Given the description of an element on the screen output the (x, y) to click on. 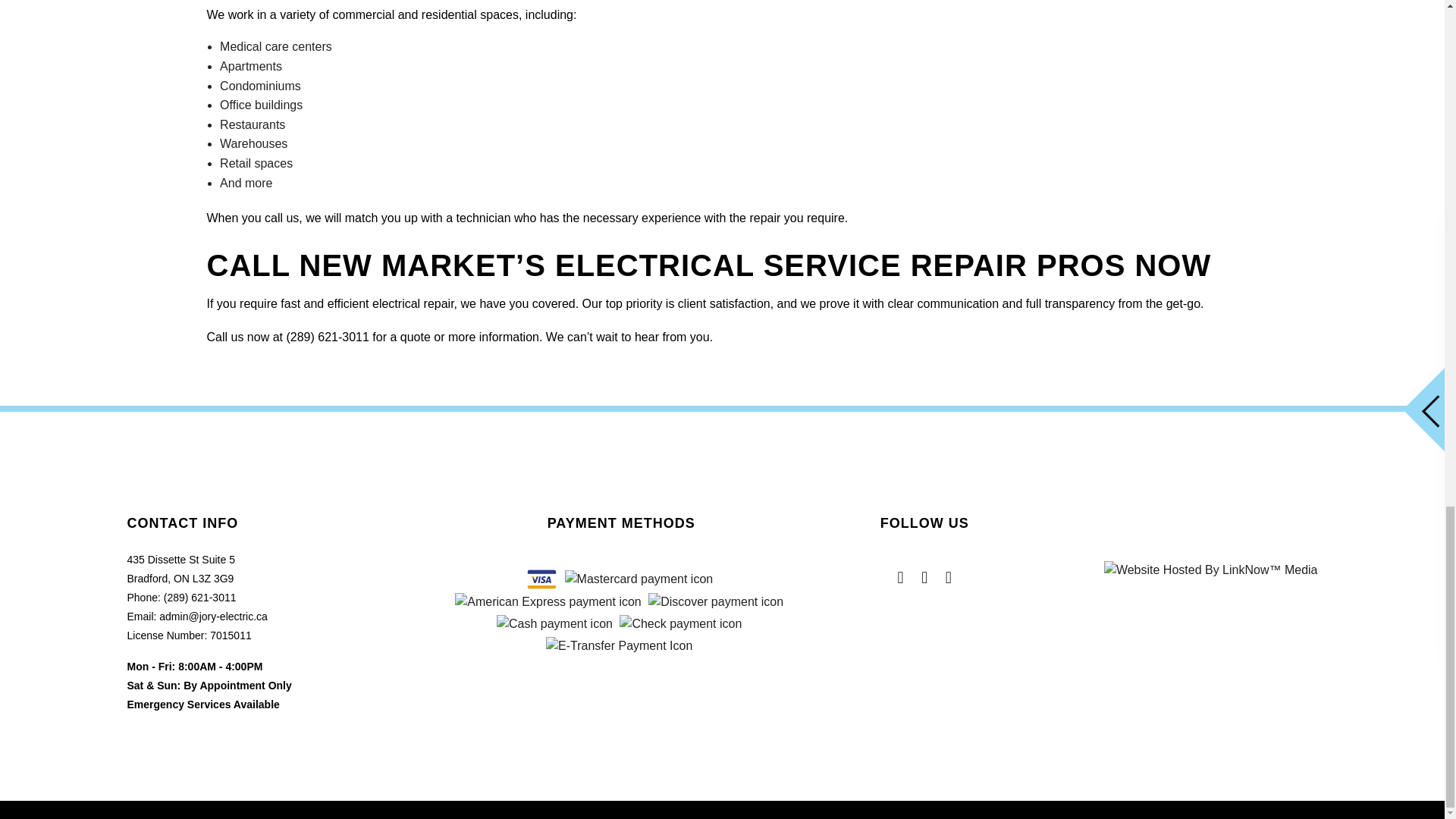
American Express (547, 601)
Mastercard (638, 579)
Visa (541, 578)
Discover (715, 601)
Cash (554, 624)
Check (680, 624)
E-Transfer (619, 646)
